Given the description of an element on the screen output the (x, y) to click on. 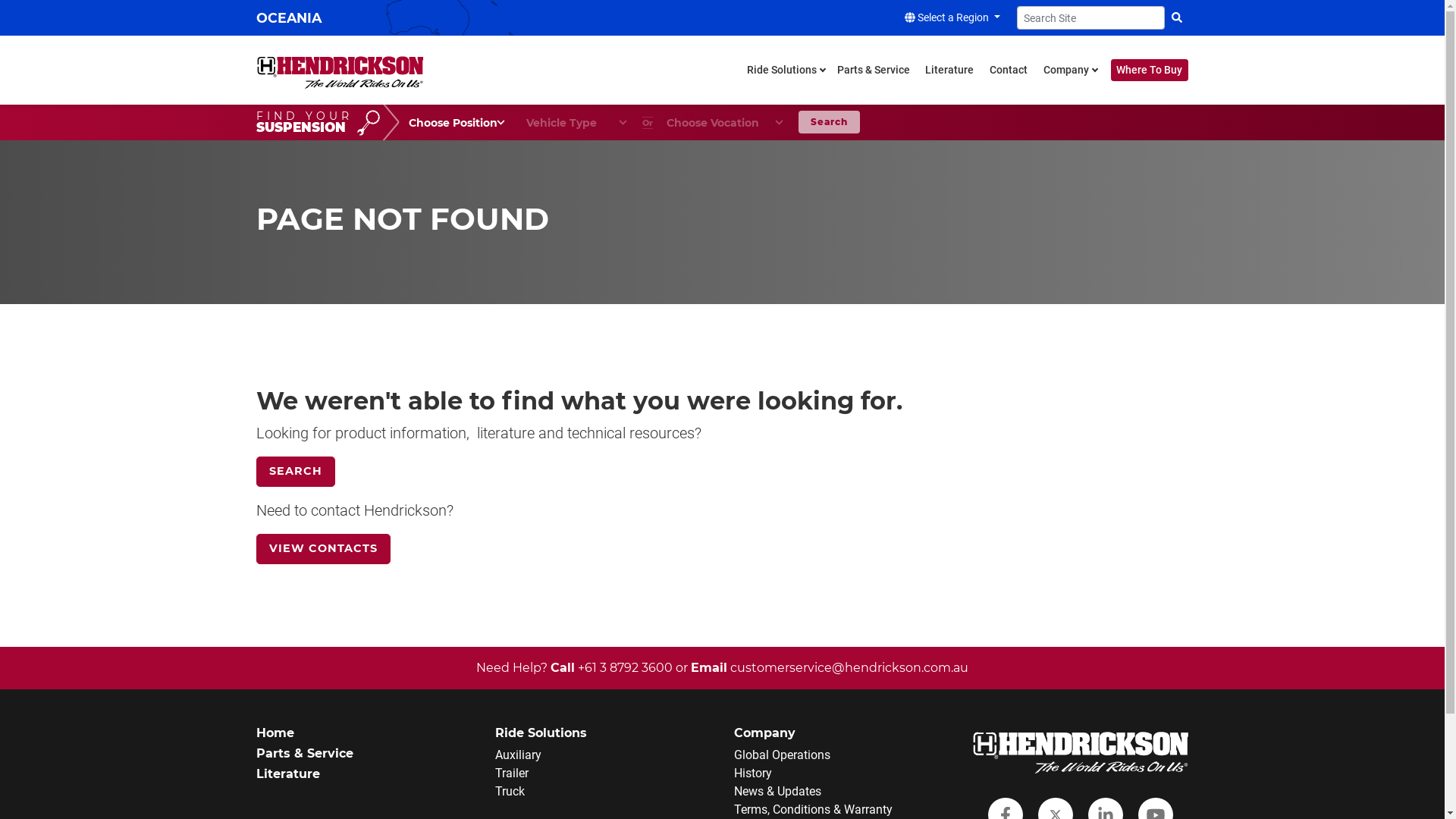
Company Element type: text (1068, 69)
News & Updates Element type: text (777, 791)
History Element type: text (752, 772)
Where To Buy Element type: text (1149, 70)
customerservice@hendrickson.com.au Element type: text (849, 666)
Literature Element type: text (288, 773)
SEARCH Element type: text (295, 471)
Trailer Element type: text (510, 772)
+61 3 8792 3600 Element type: text (626, 666)
Global Operations Element type: text (782, 754)
Hendrickson International Element type: hover (339, 69)
Home Element type: text (275, 731)
Ride Solutions Element type: text (540, 731)
Parts & Service Element type: text (872, 69)
Hendrickson Intl. Element type: hover (1080, 748)
Parts & Service Element type: text (304, 753)
VIEW CONTACTS Element type: text (323, 548)
Search Element type: text (828, 121)
Truck Element type: text (509, 791)
Contact Element type: text (1008, 69)
Auxiliary Element type: text (517, 754)
Select a Region Element type: text (952, 17)
Company Element type: text (764, 731)
Search Site Element type: text (1176, 17)
Ride Solutions Element type: text (783, 69)
Terms, Conditions & Warranty Element type: text (813, 809)
Literature Element type: text (949, 69)
